Given the description of an element on the screen output the (x, y) to click on. 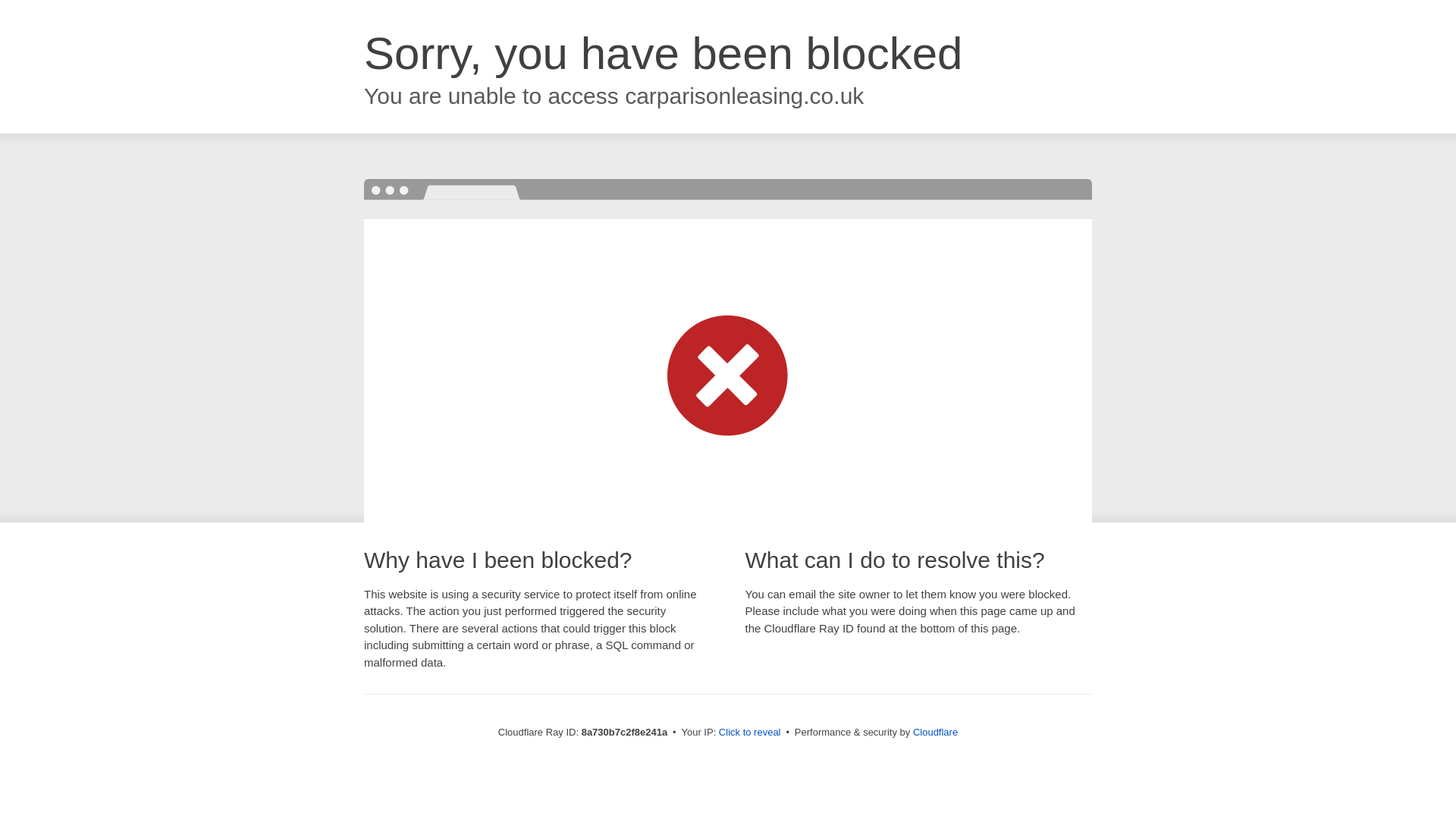
Click to reveal (749, 732)
Cloudflare (935, 731)
